Given the description of an element on the screen output the (x, y) to click on. 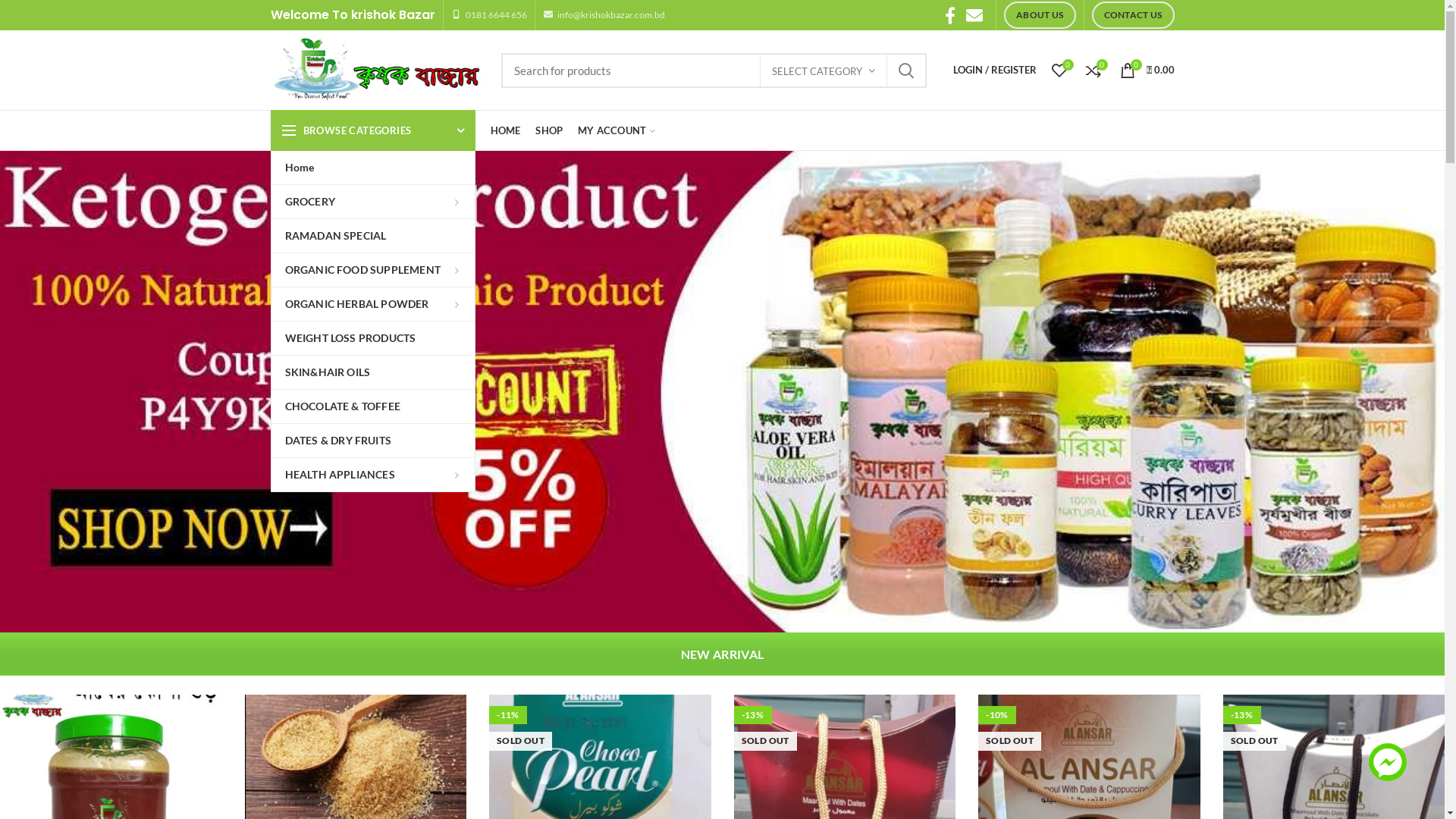
HEALTH APPLIANCES Element type: text (372, 474)
WEIGHT LOSS PRODUCTS Element type: text (372, 337)
CONTACT US Element type: text (1133, 14)
0 Element type: text (1093, 69)
0 Element type: text (1058, 69)
SKIN&HAIR OILS Element type: text (372, 372)
MY ACCOUNT Element type: text (616, 130)
Email Element type: text (974, 15)
SELECT CATEGORY Element type: text (822, 70)
NEW ARRIVAL Element type: text (722, 653)
ORGANIC FOOD SUPPLEMENT Element type: text (372, 269)
GROCERY Element type: text (372, 201)
SEARCH Element type: text (906, 70)
SHOP Element type: text (548, 130)
RAMADAN SPECIAL Element type: text (372, 235)
LOGIN / REGISTER Element type: text (993, 69)
Home Element type: text (372, 167)
DATES & DRY FRUITS Element type: text (372, 440)
ABOUT US Element type: text (1039, 14)
HOME Element type: text (504, 130)
CHOCOLATE & TOFFEE Element type: text (372, 406)
Facebook Element type: text (949, 15)
ORGANIC HERBAL POWDER Element type: text (372, 303)
